Given the description of an element on the screen output the (x, y) to click on. 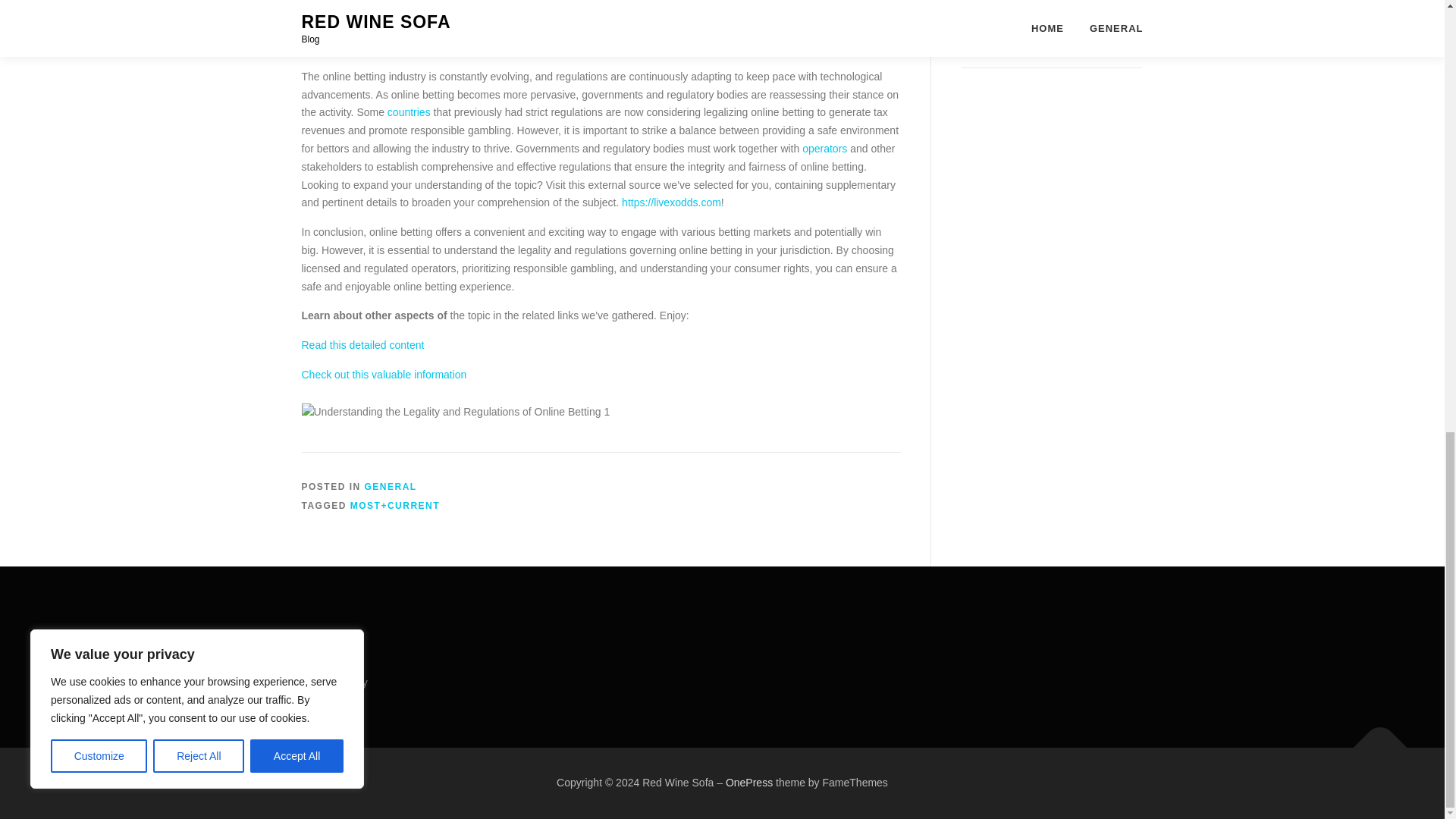
GENERAL (390, 486)
Check out this valuable information (384, 374)
operators (824, 148)
countries (408, 111)
Back To Top (1372, 739)
Read this detailed content (363, 345)
